Given the description of an element on the screen output the (x, y) to click on. 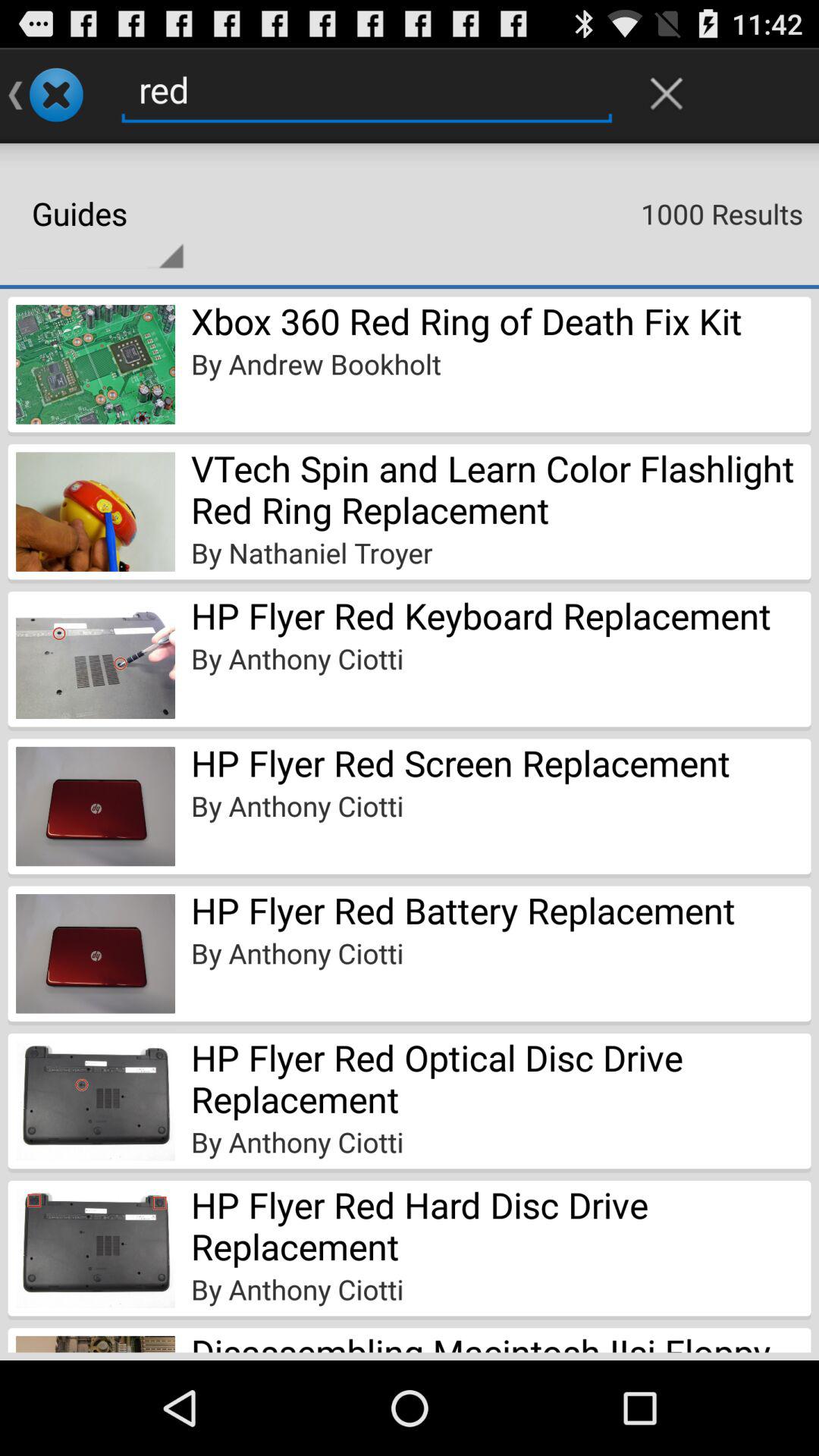
choose the icon below the xbox 360 red item (316, 363)
